Given the description of an element on the screen output the (x, y) to click on. 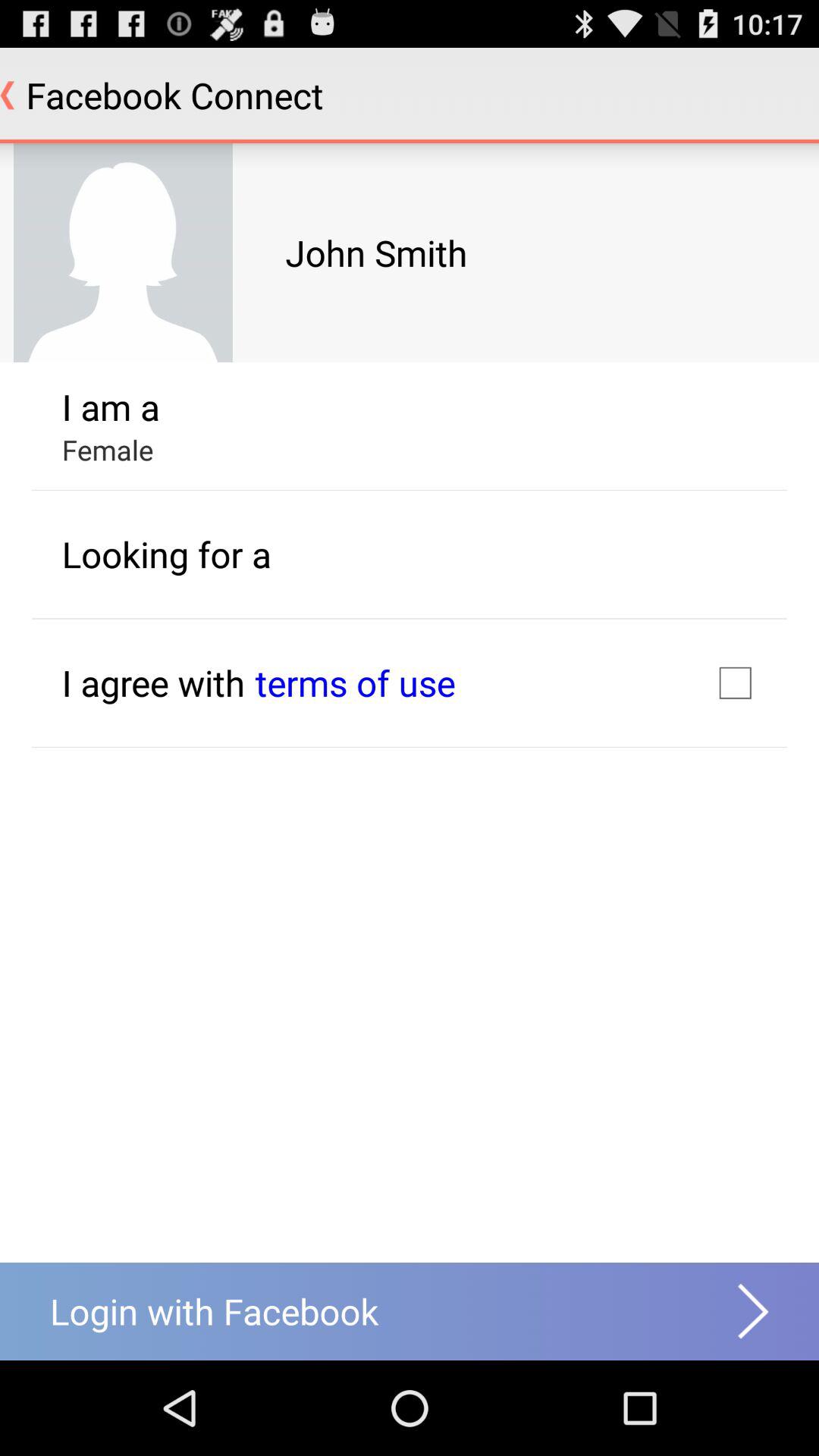
turn off icon next to i agree with item (355, 682)
